Given the description of an element on the screen output the (x, y) to click on. 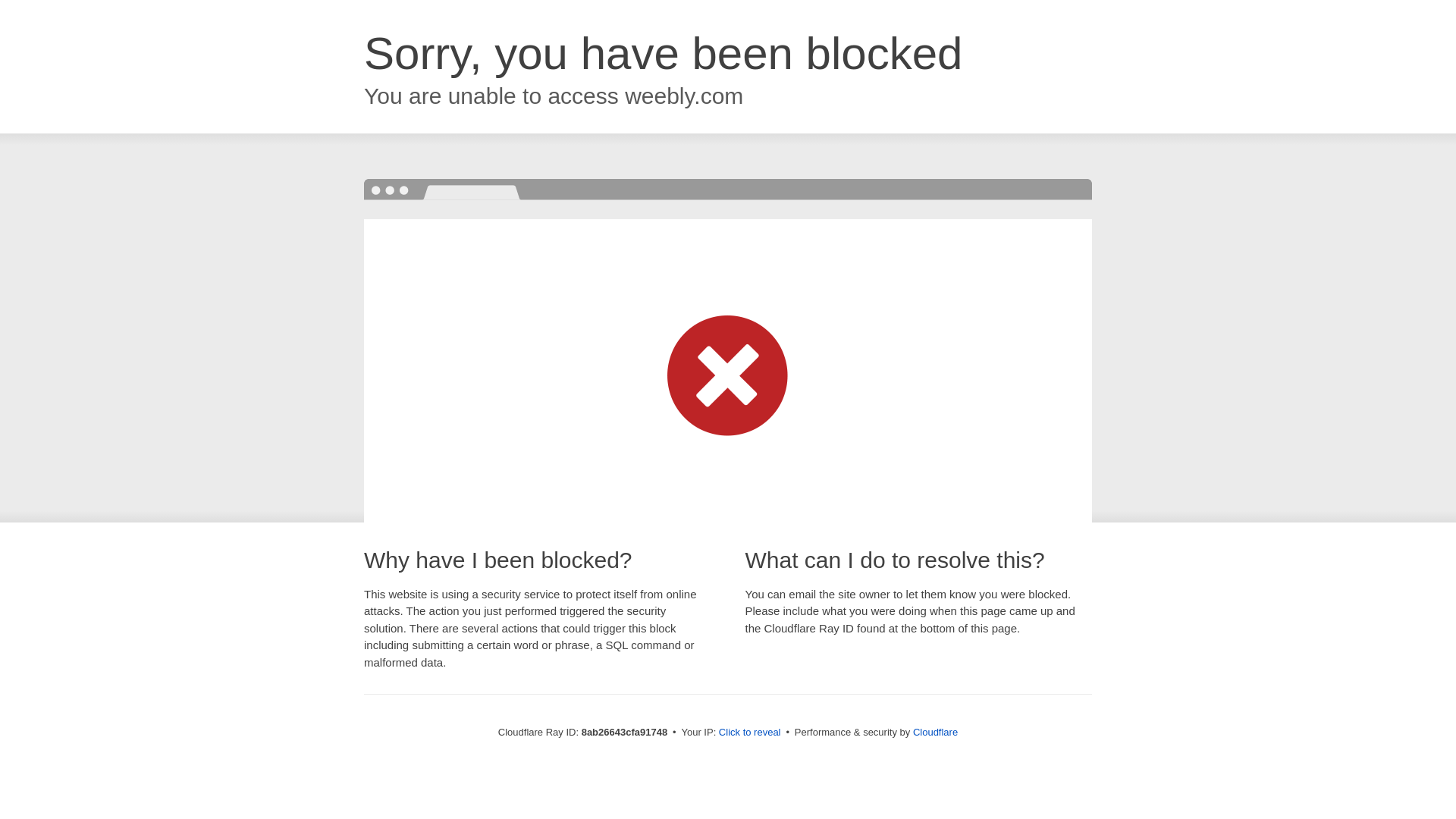
Cloudflare (935, 731)
Click to reveal (749, 732)
